Given the description of an element on the screen output the (x, y) to click on. 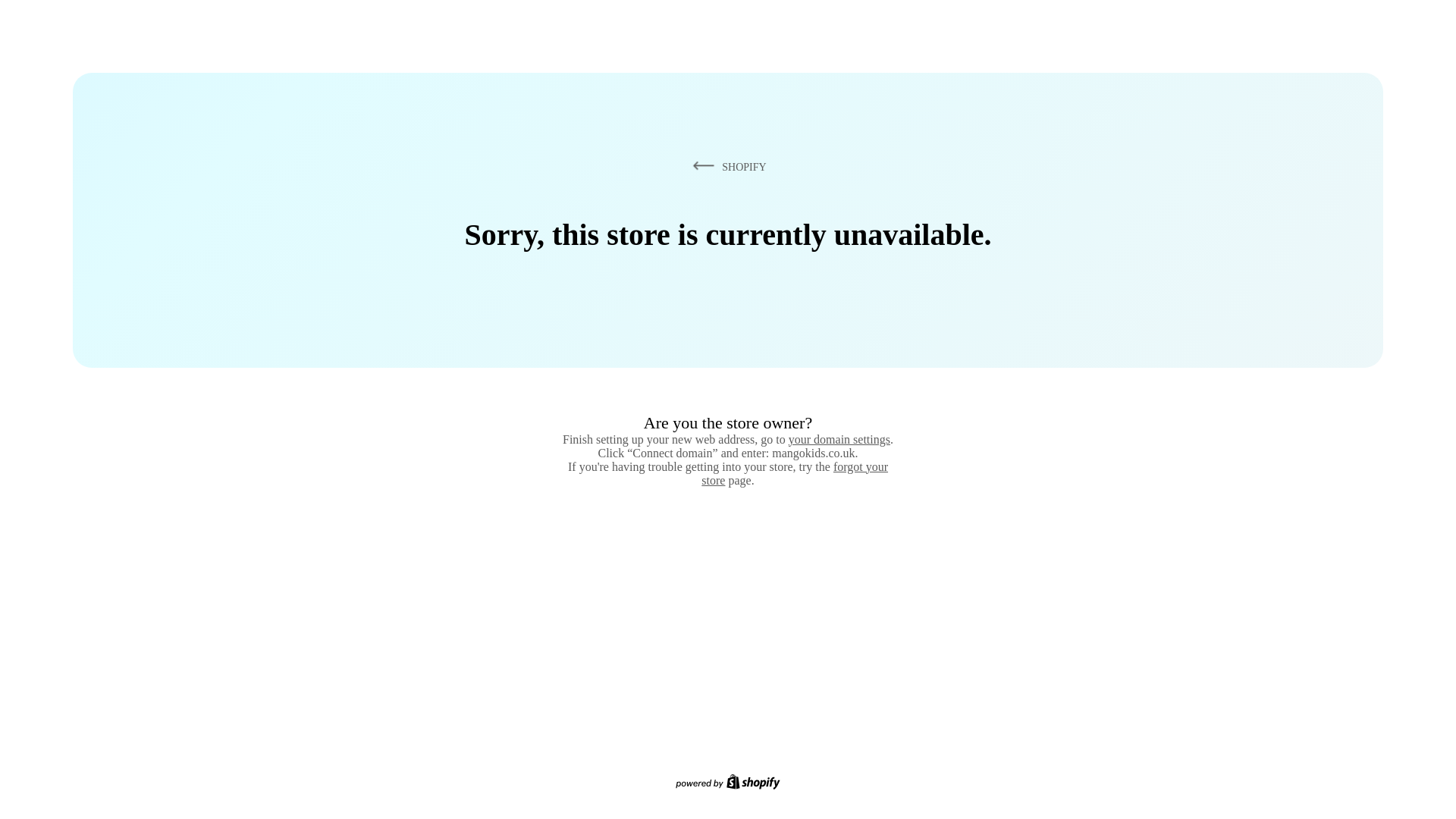
SHOPIFY (726, 166)
forgot your store (794, 473)
your domain settings (839, 439)
